Given the description of an element on the screen output the (x, y) to click on. 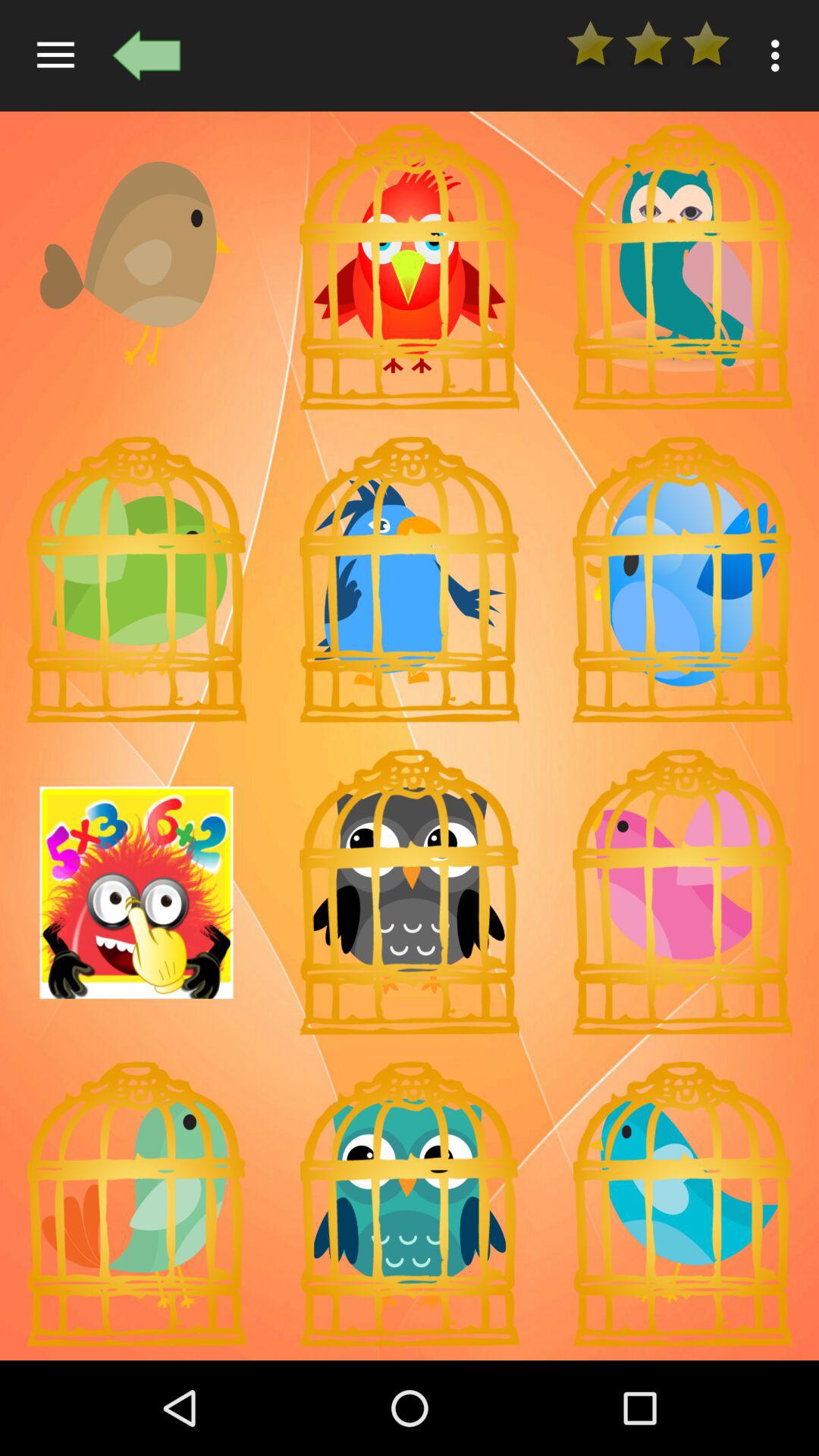
go back (146, 55)
